Given the description of an element on the screen output the (x, y) to click on. 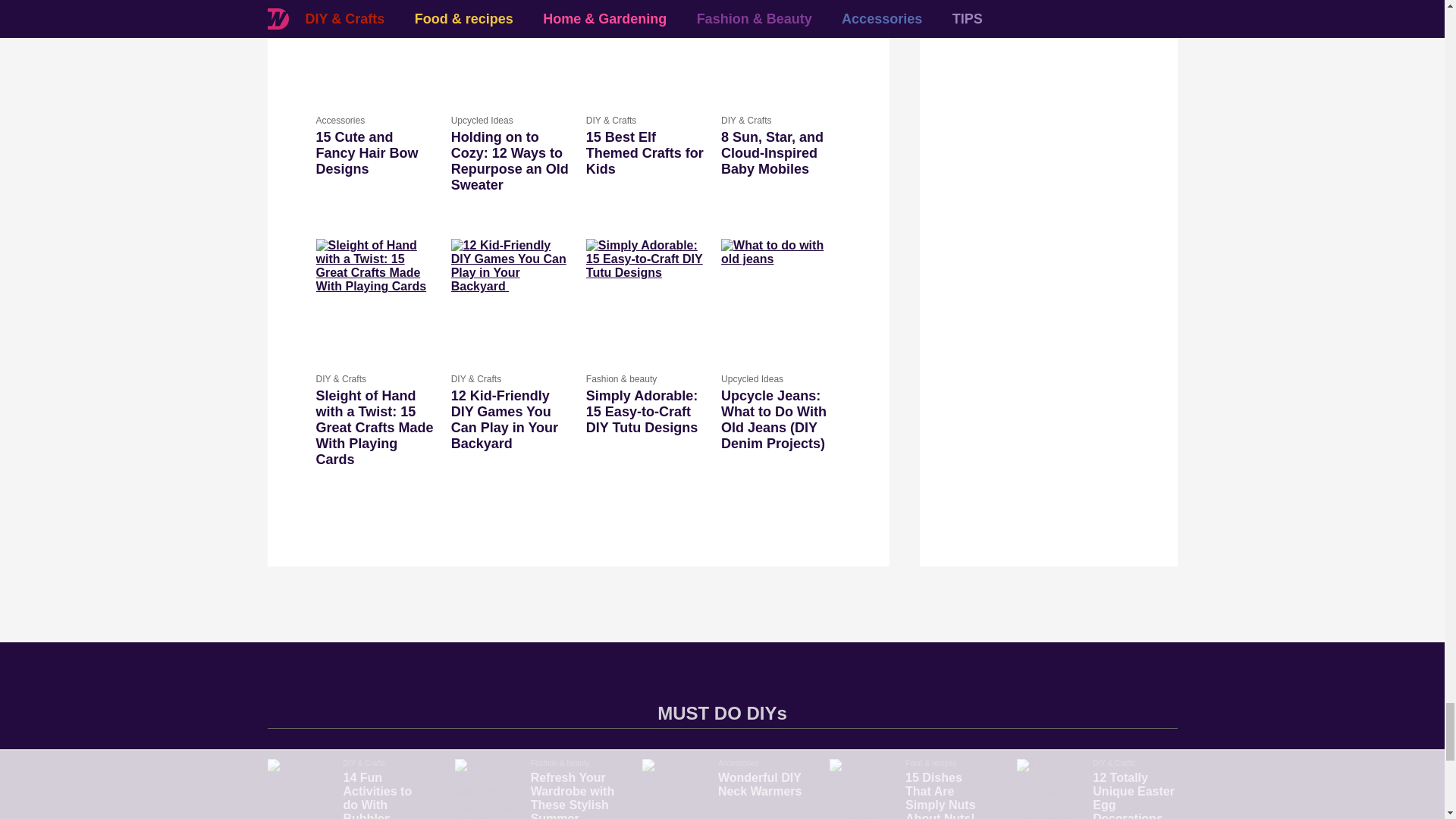
Upcycled Ideas (510, 120)
15 Best Elf Themed Crafts for Kids (645, 153)
15 Best Elf Themed Crafts for Kids (645, 49)
Accessories (374, 120)
8 Sun, Star, and Cloud-Inspired Baby Mobiles (780, 49)
15 Cute and Fancy Hair Bow Designs (374, 49)
8 Sun, Star, and Cloud-Inspired Baby Mobiles (780, 153)
15 Cute and Fancy Hair Bow Designs (374, 153)
